Given the description of an element on the screen output the (x, y) to click on. 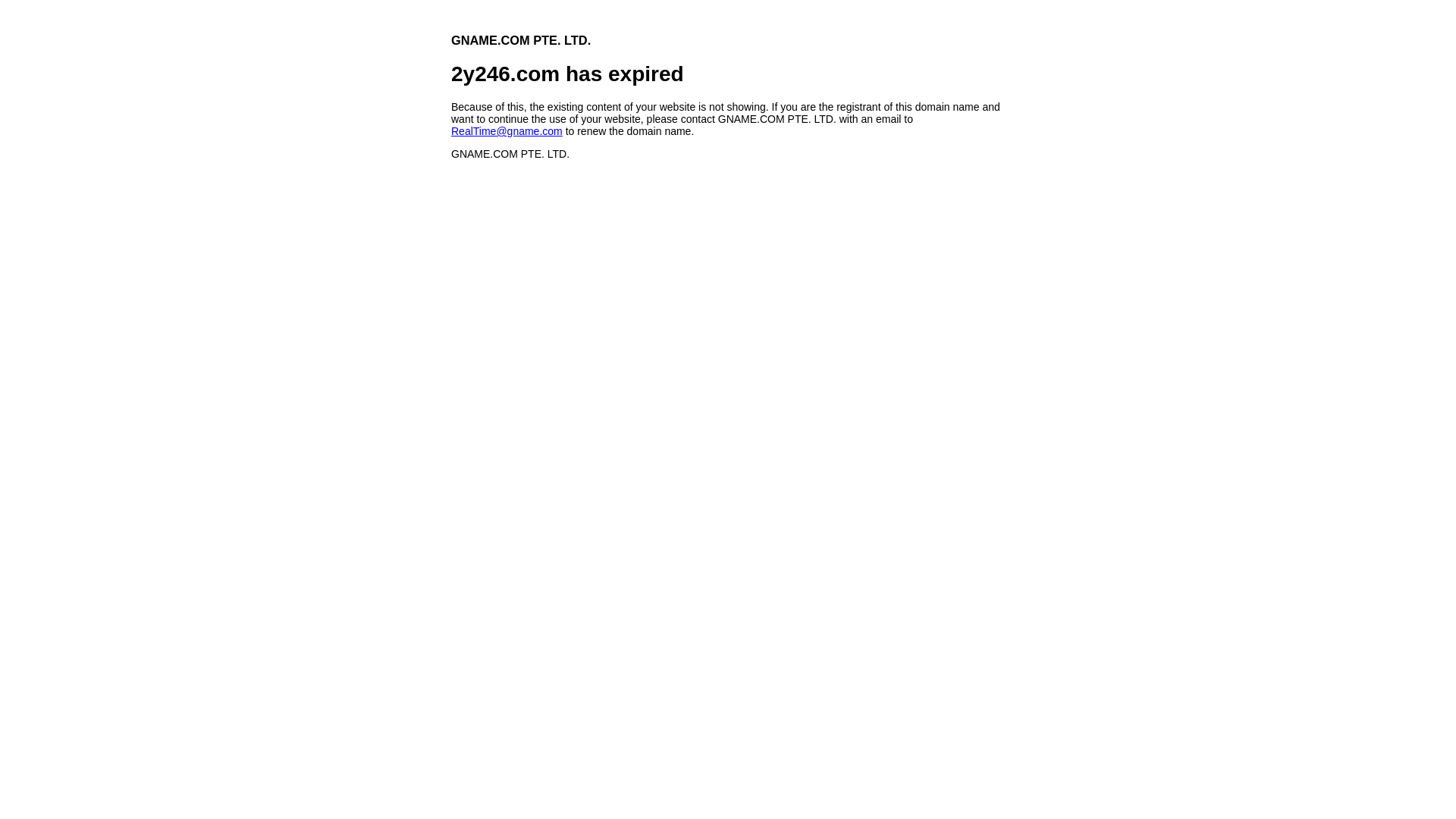
RealTime@gname.com Element type: text (506, 131)
